Given the description of an element on the screen output the (x, y) to click on. 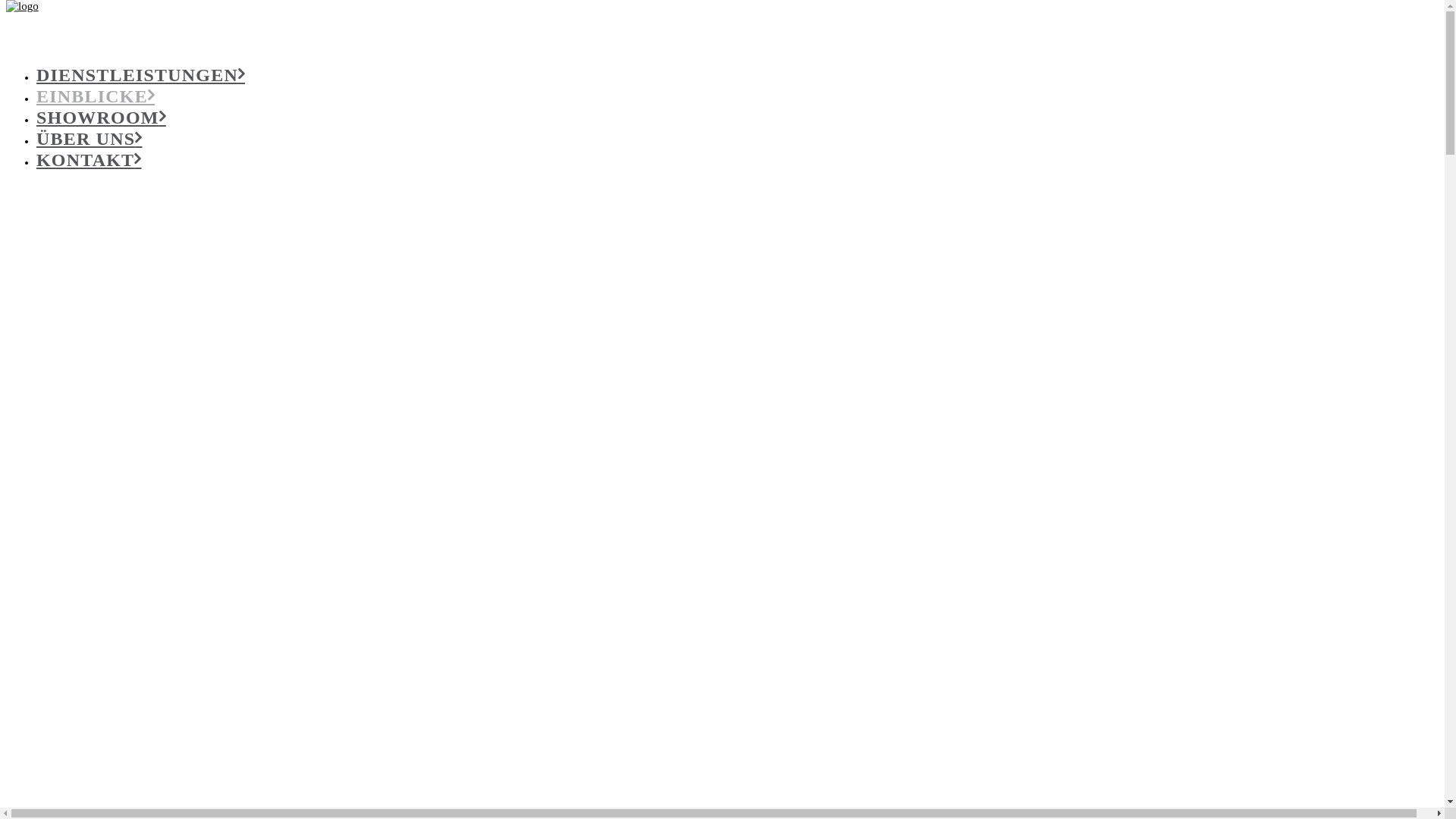
DIENSTLEISTUNGEN Element type: text (140, 74)
SHOWROOM Element type: text (101, 117)
EINBLICKE Element type: text (95, 96)
KONTAKT Element type: text (88, 159)
